Given the description of an element on the screen output the (x, y) to click on. 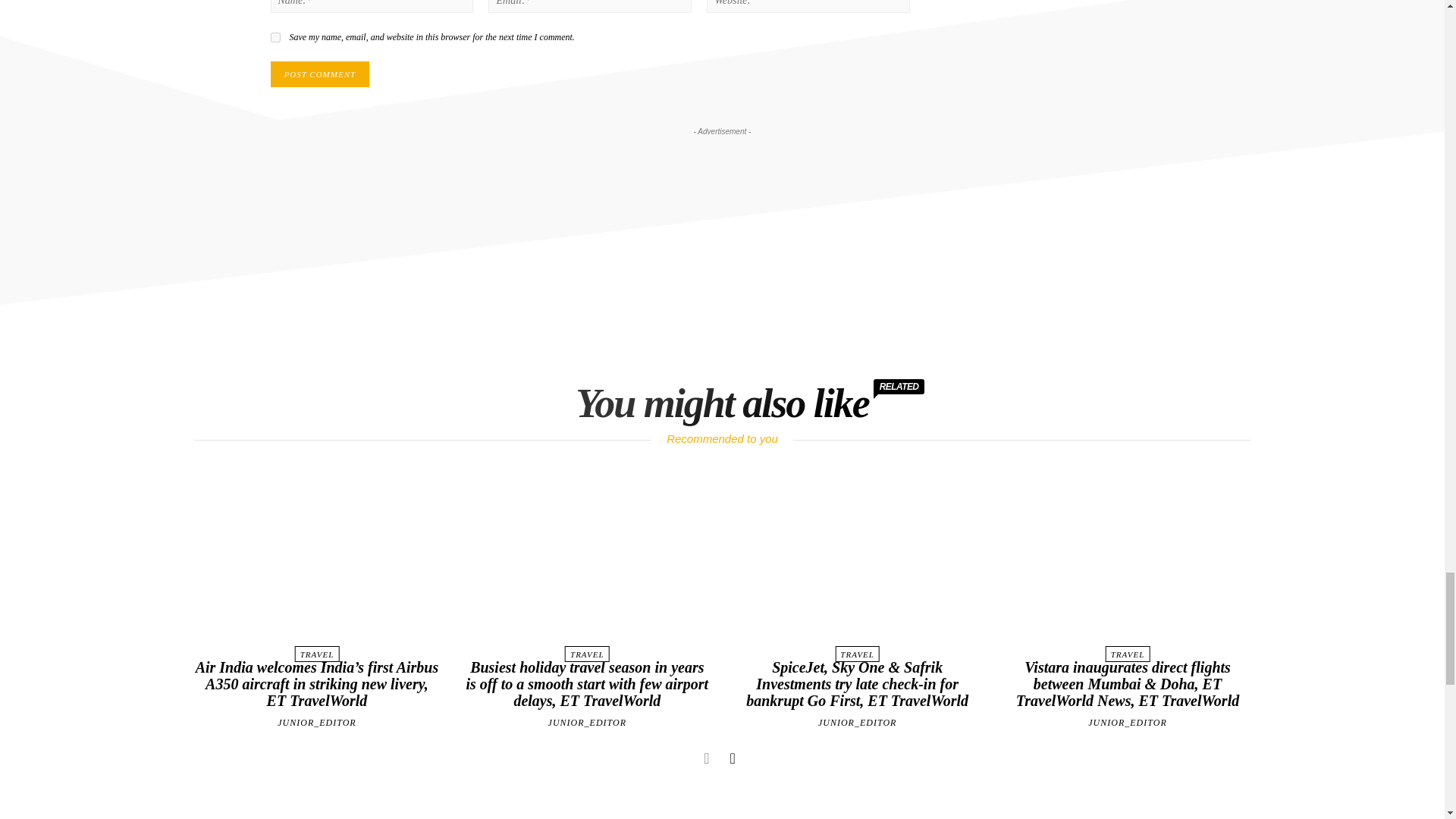
Post Comment (319, 73)
yes (274, 37)
